Given the description of an element on the screen output the (x, y) to click on. 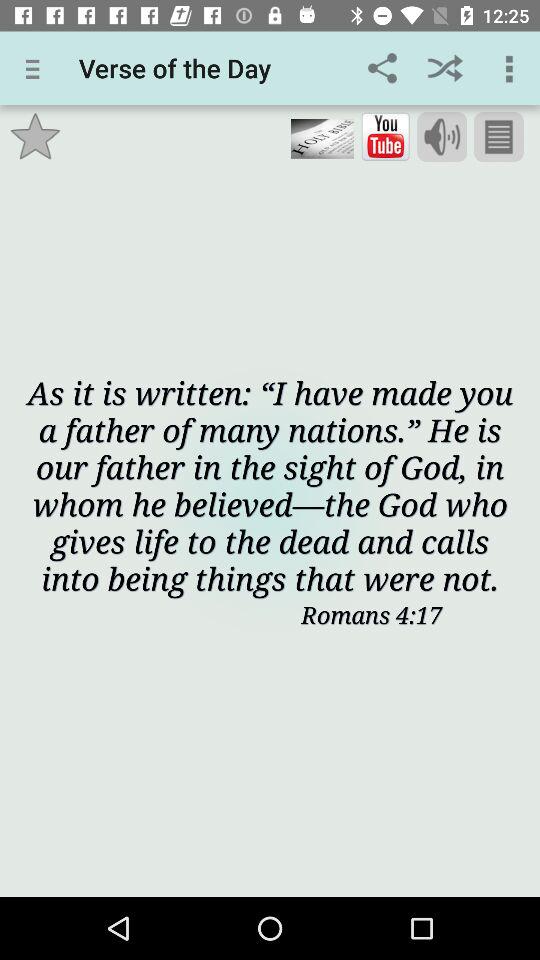
select app next to the verse of the app (36, 68)
